Given the description of an element on the screen output the (x, y) to click on. 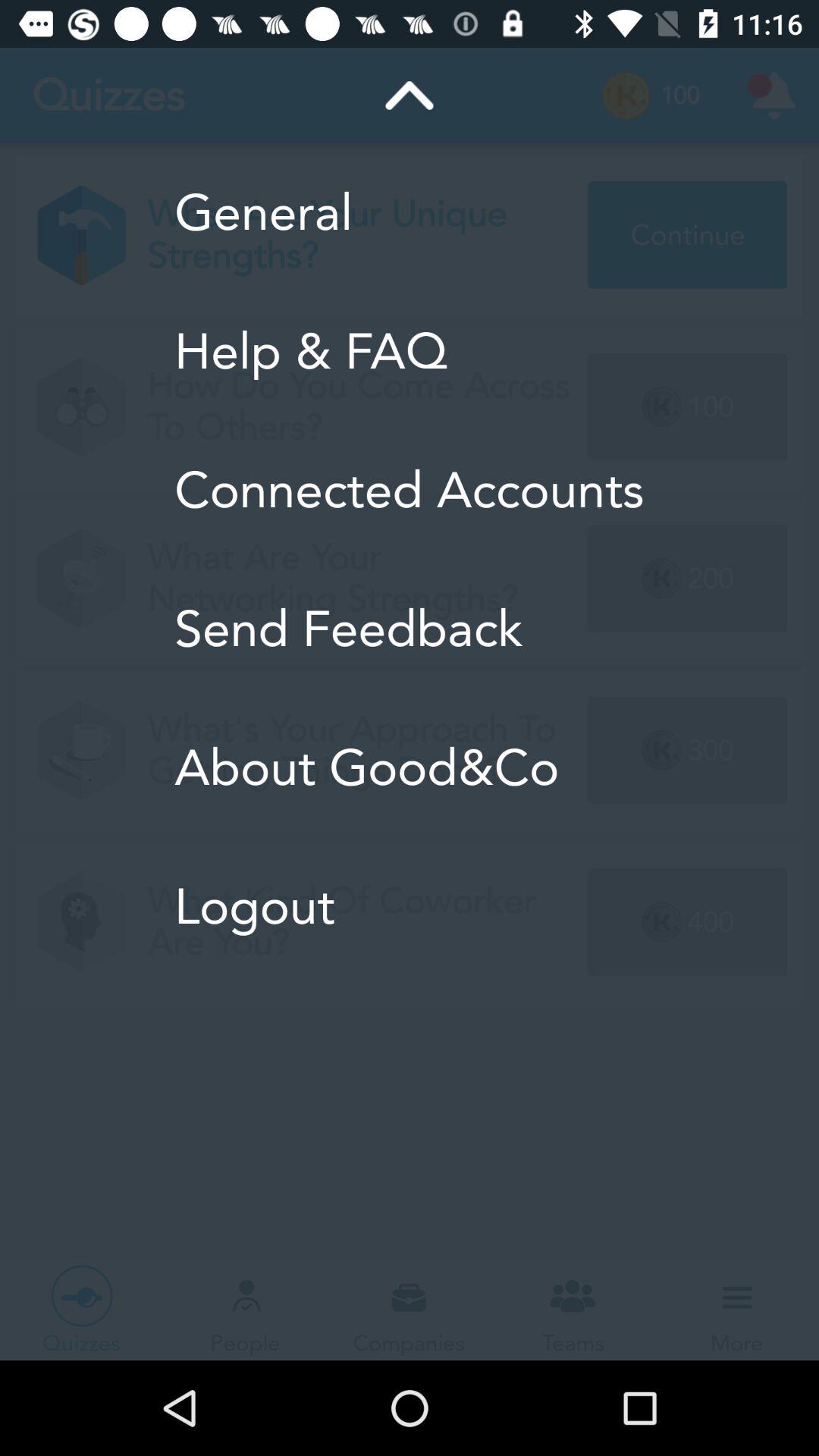
turn off the send feedback item (408, 628)
